Given the description of an element on the screen output the (x, y) to click on. 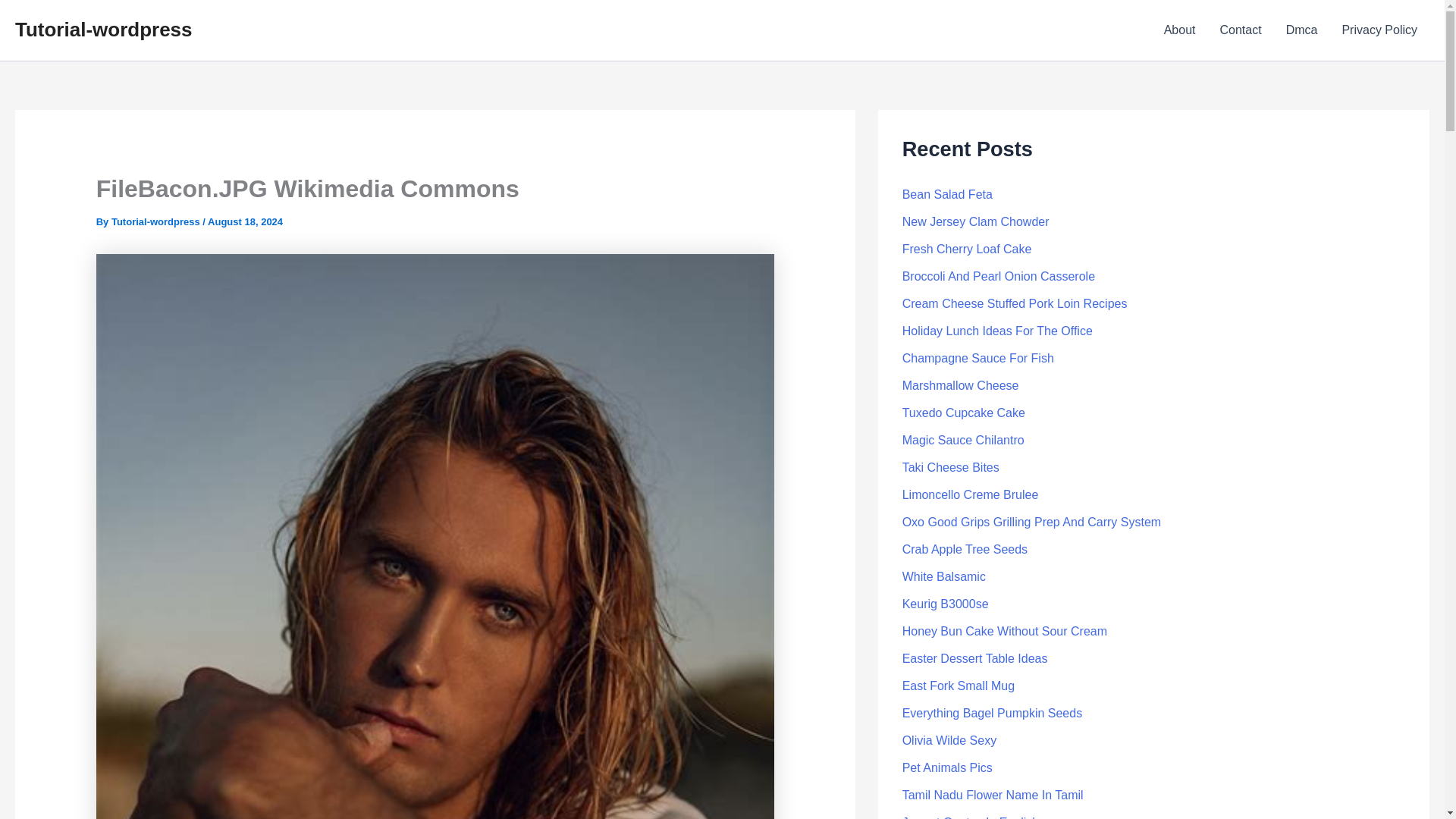
Holiday Lunch Ideas For The Office (997, 330)
View all posts by psonline (157, 221)
Oxo Good Grips Grilling Prep And Carry System (1031, 521)
Fresh Cherry Loaf Cake (967, 248)
Easter Dessert Table Ideas (975, 658)
Tuxedo Cupcake Cake (963, 412)
Tutorial-wordpress (103, 29)
Champagne Sauce For Fish (978, 358)
Pet Animals Pics (947, 767)
Cream Cheese Stuffed Pork Loin Recipes (1014, 303)
